Given the description of an element on the screen output the (x, y) to click on. 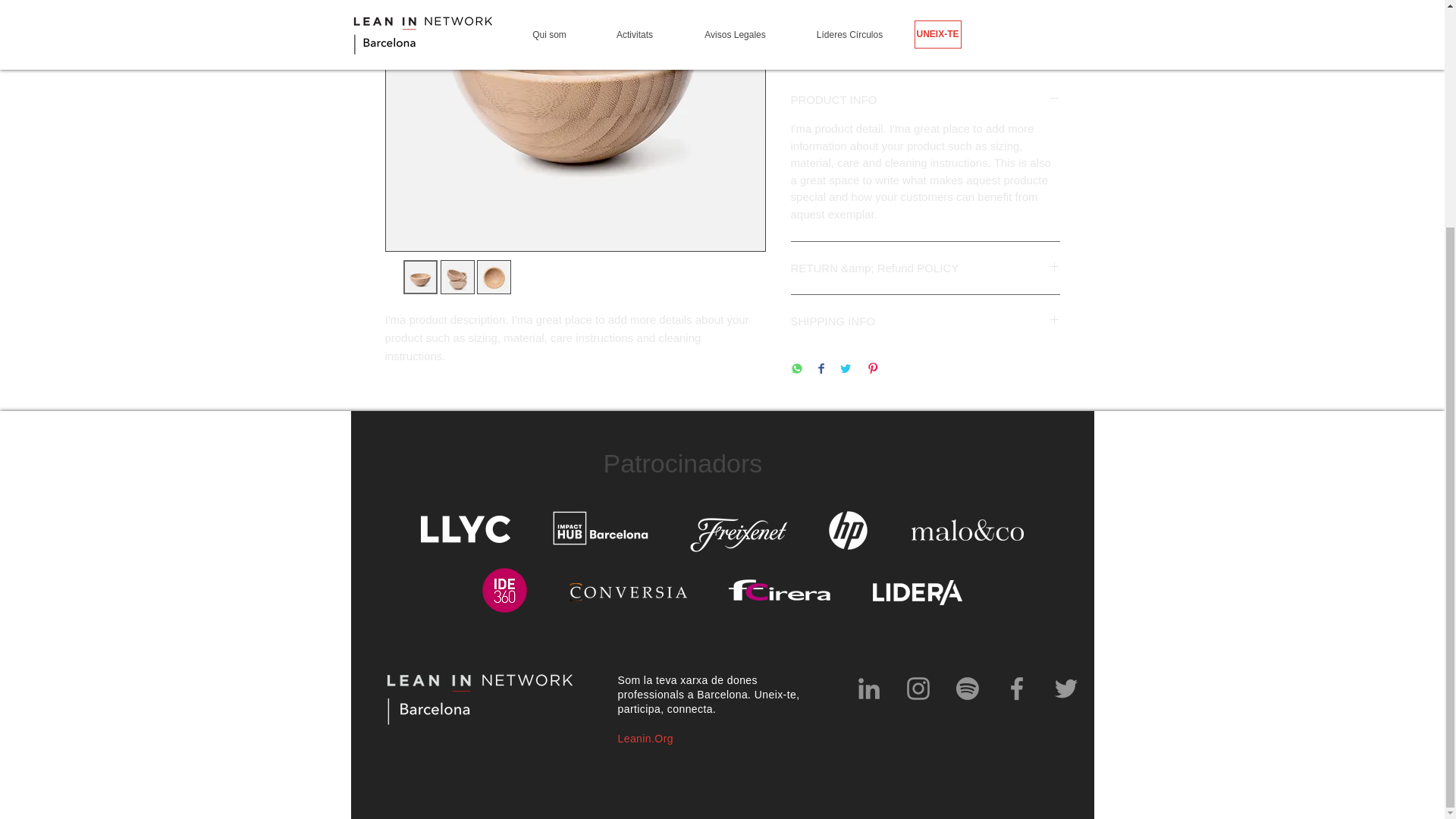
Tips para generar anticuerpos comunicati (738, 534)
PRODUCT INFO (924, 99)
Tips para generar anticuerpos comunicati (778, 590)
Tips para generar anticuerpos comunicati (916, 592)
1 (818, 0)
Tips para generar anticuerpos comunicati (967, 529)
Afegeix a la cistella (924, 40)
Tips para generar anticuerpos comunicati (464, 528)
Tips para generar anticuerpos comunicati (600, 528)
SHIPPING INFO (924, 320)
